Given the description of an element on the screen output the (x, y) to click on. 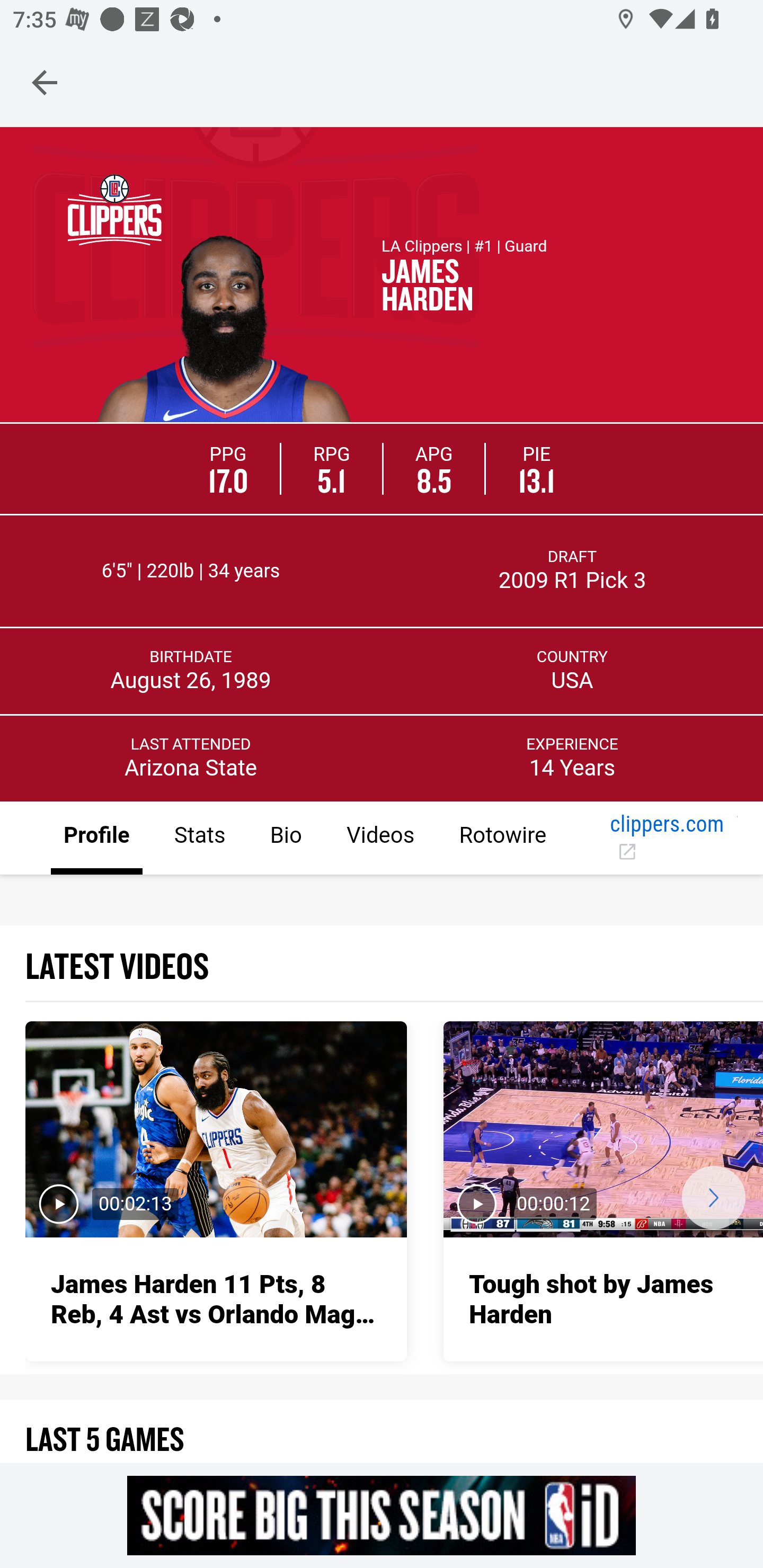
Navigate up (44, 82)
LA Clippers Logo (114, 209)
Profile (97, 838)
Stats (199, 838)
Bio (284, 838)
Videos (379, 838)
Rotowire (501, 838)
clippers.com (666, 838)
Carousel Button (713, 1197)
g5nqqygr7owph (381, 1515)
